Given the description of an element on the screen output the (x, y) to click on. 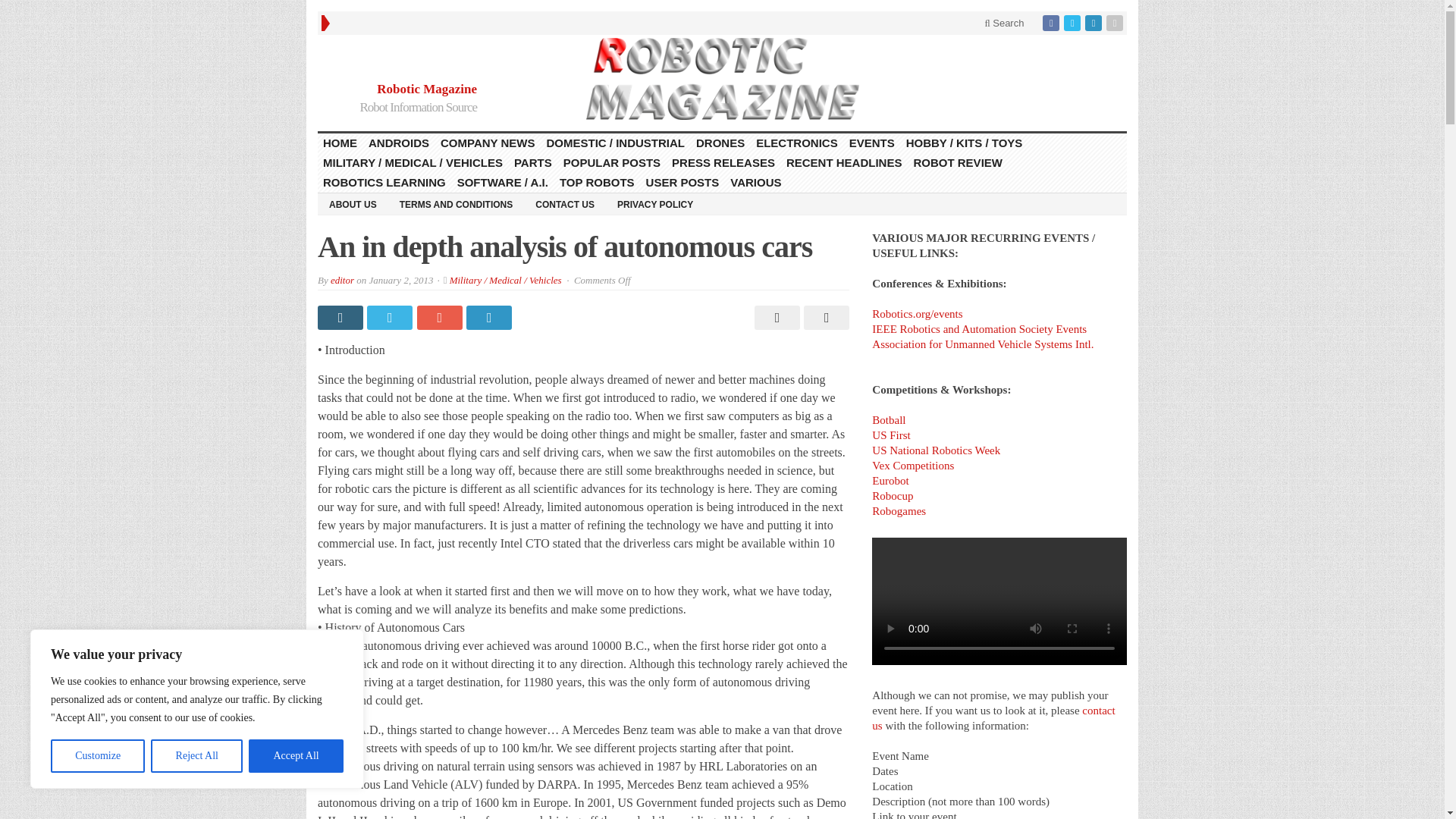
Site feed (1115, 22)
DRONES (720, 143)
HOME (339, 143)
ELECTRONICS (797, 143)
Customize (97, 756)
PRESS RELEASES (723, 162)
Robot News (722, 78)
PARTS (532, 162)
LinkedIn (1094, 22)
POPULAR POSTS (611, 162)
